Given the description of an element on the screen output the (x, y) to click on. 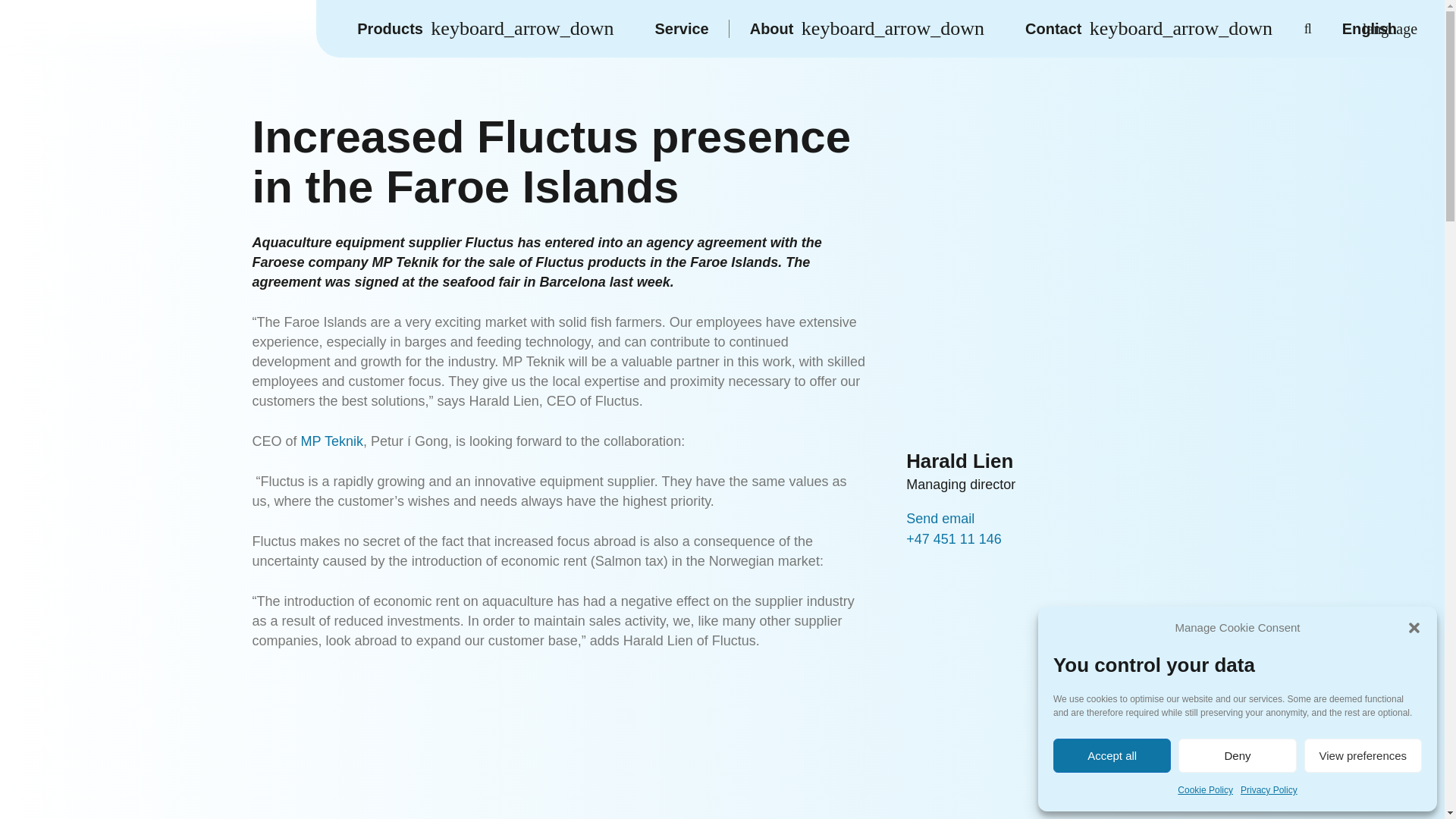
English (1382, 28)
Privacy Policy (1268, 790)
View preferences (1363, 755)
Deny (1236, 755)
Contact (1148, 28)
Send email (939, 518)
Service (681, 28)
Products (484, 28)
About (866, 28)
Accept all (1111, 755)
